Given the description of an element on the screen output the (x, y) to click on. 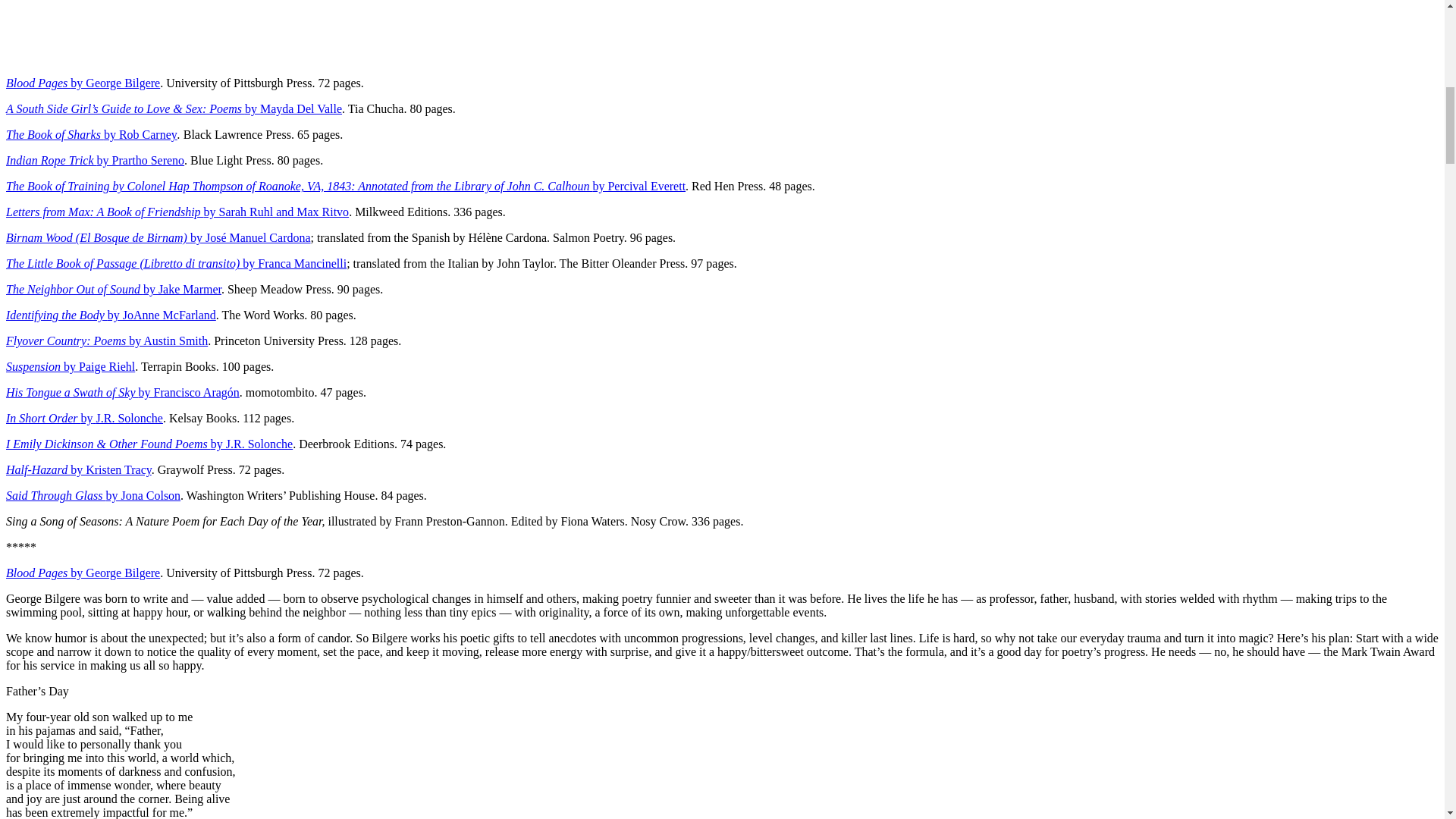
by Mayda Del Valle (293, 108)
Indian Rope Trick (51, 160)
The Book of Sharks (54, 133)
by Prartho Sereno (140, 160)
Blood Pages (37, 82)
Identifying the Body (56, 314)
by Percival Everett (638, 185)
by Rob Carney (140, 133)
by George Bilgere (114, 82)
